Given the description of an element on the screen output the (x, y) to click on. 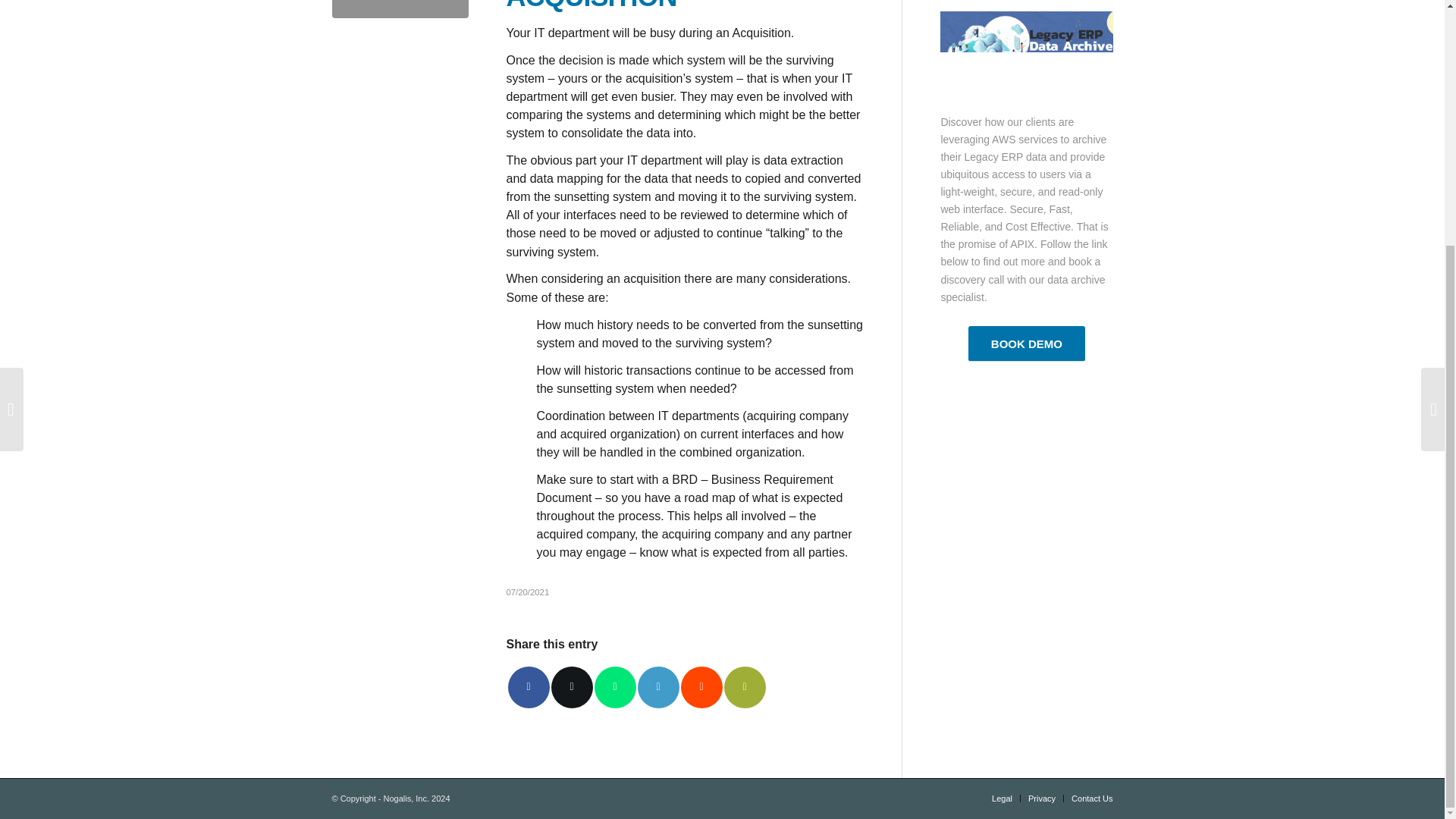
BOOK DEMO (1026, 343)
Book a time to discuss your project with an expert (1026, 343)
Legal (1001, 798)
How-your-IT-department-will-be-affected-by-an-Acquisition (399, 9)
Contact Us (1091, 798)
Privacy (1041, 798)
